Given the description of an element on the screen output the (x, y) to click on. 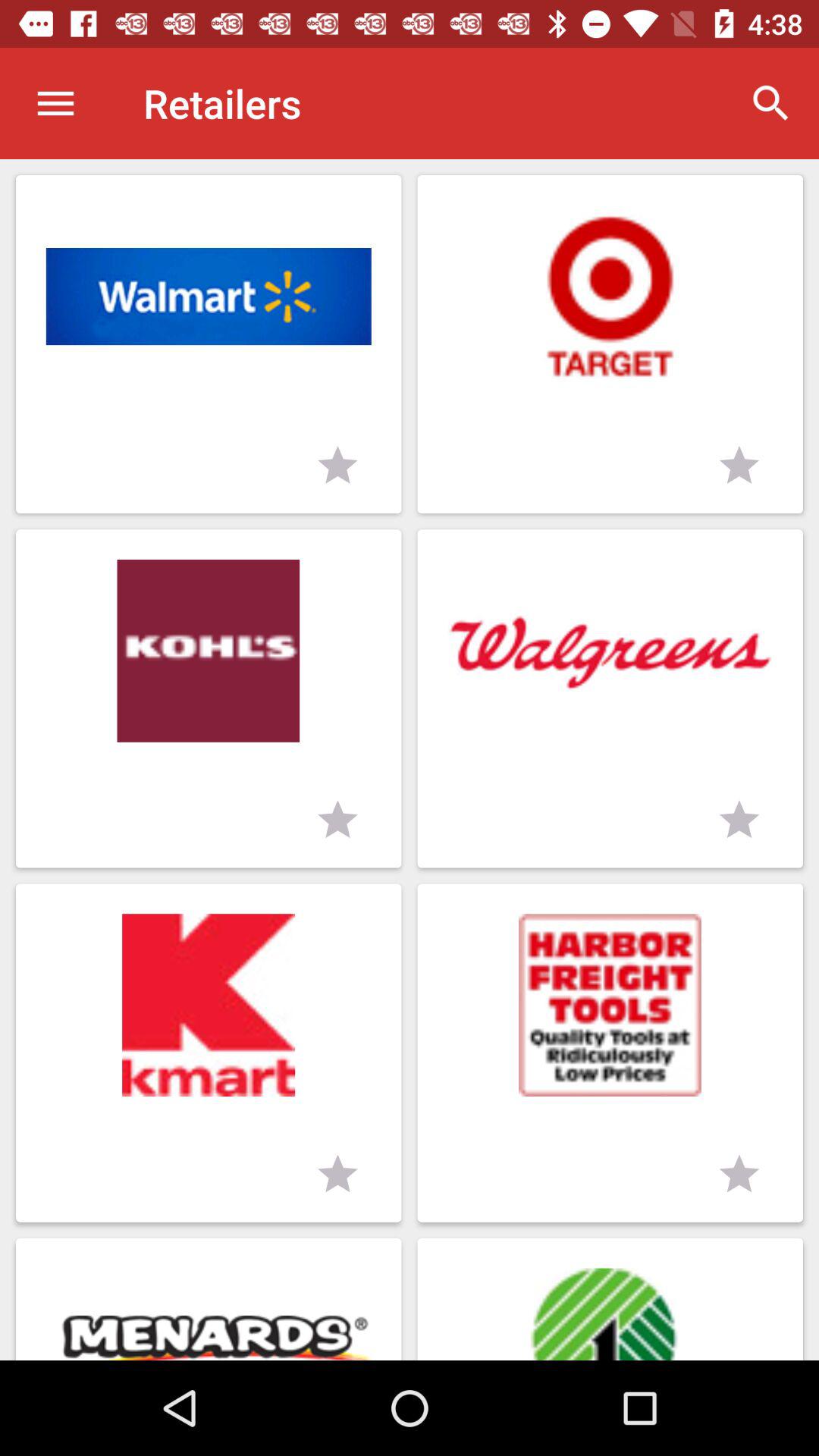
tap icon next to retailers (55, 103)
